Given the description of an element on the screen output the (x, y) to click on. 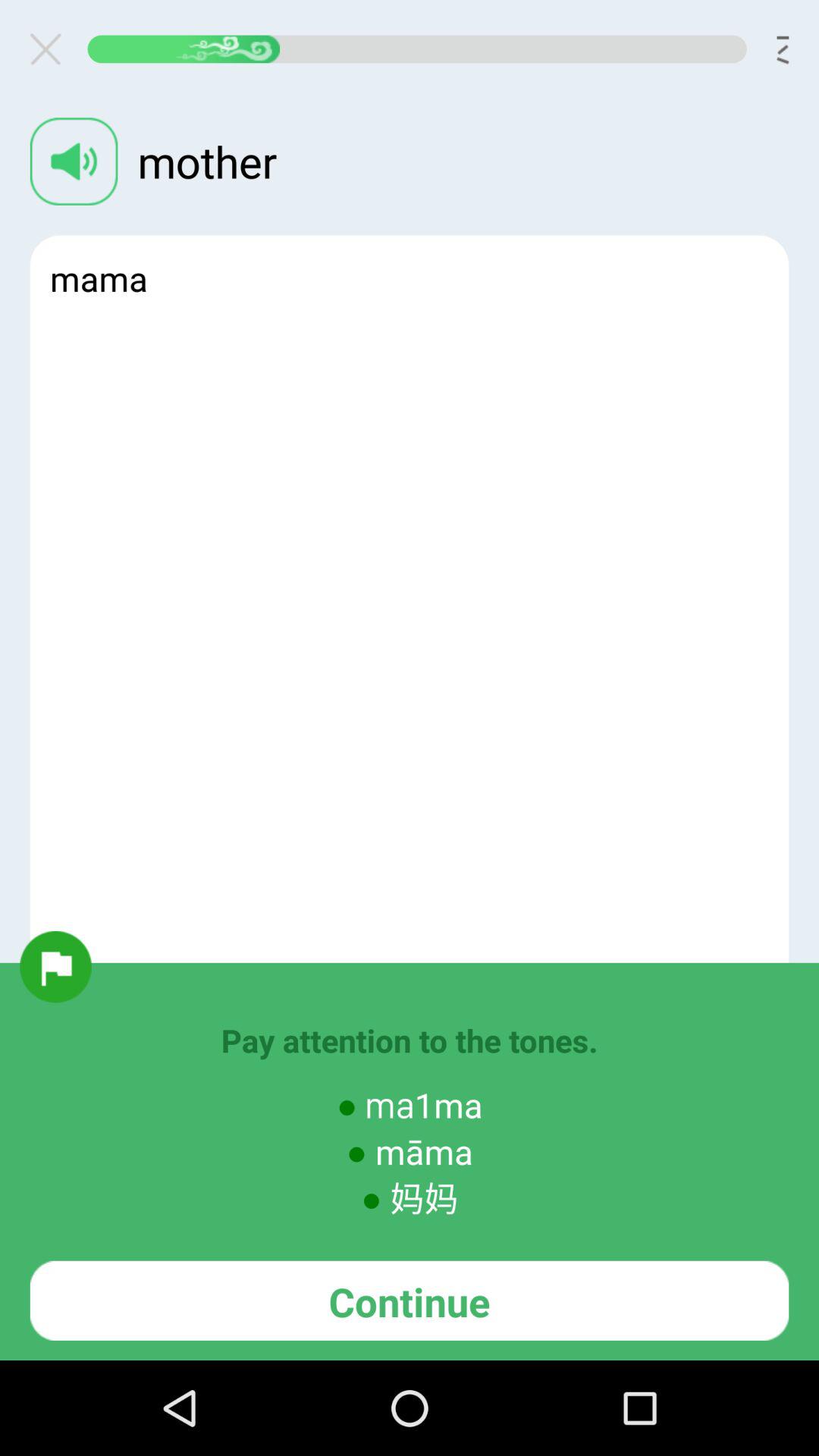
close dialogue box (51, 49)
